Given the description of an element on the screen output the (x, y) to click on. 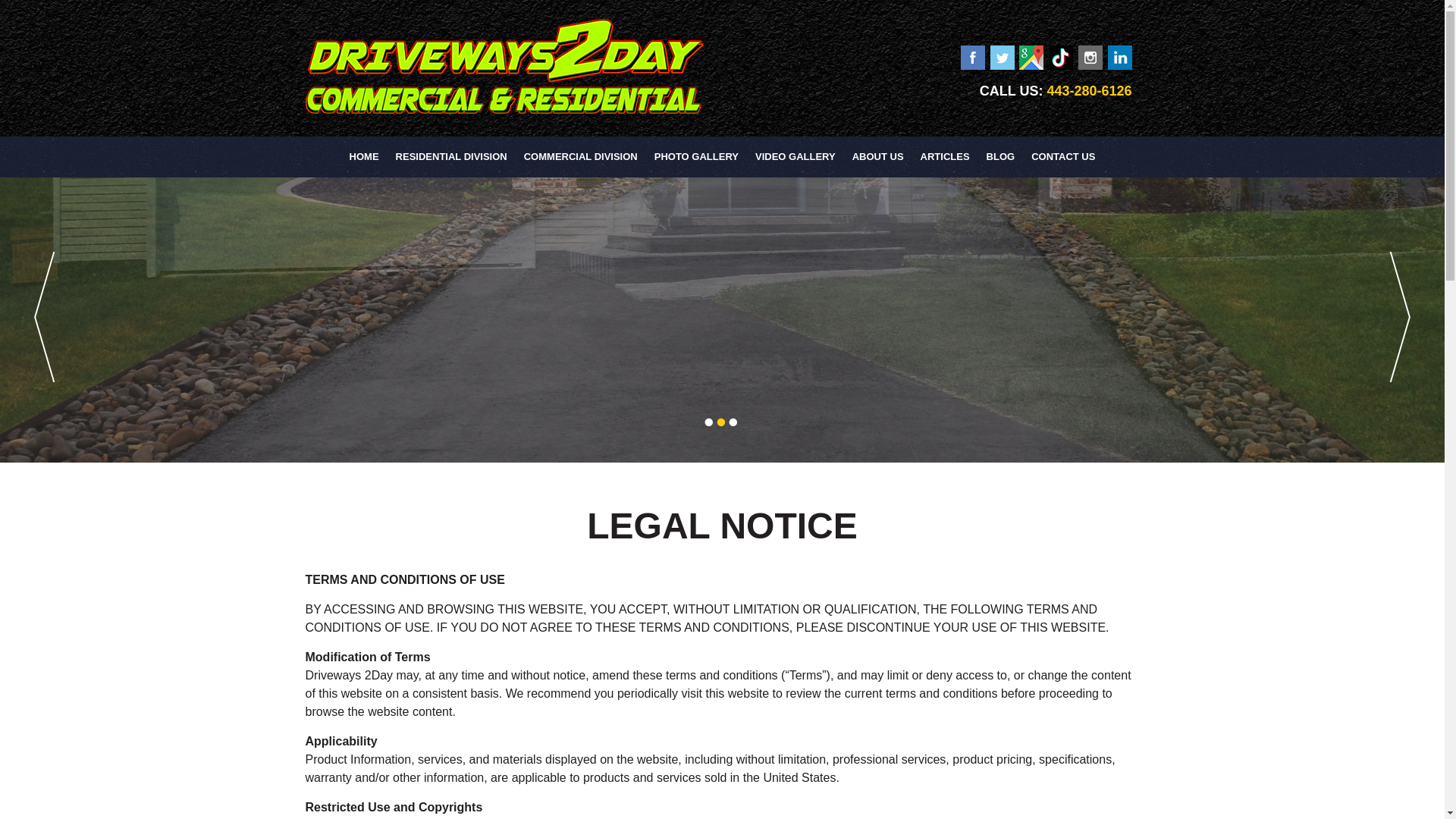
ARTICLES (944, 156)
ABOUT US (877, 156)
RESIDENTIAL DIVISION (451, 156)
PHOTO GALLERY (695, 156)
BLOG (1000, 156)
VIDEO GALLERY (795, 156)
Driveways 2Day Logo (503, 65)
COMMERCIAL DIVISION (580, 156)
CONTACT US (1062, 156)
HOME (364, 156)
443-280-6126 (1088, 90)
